Given the description of an element on the screen output the (x, y) to click on. 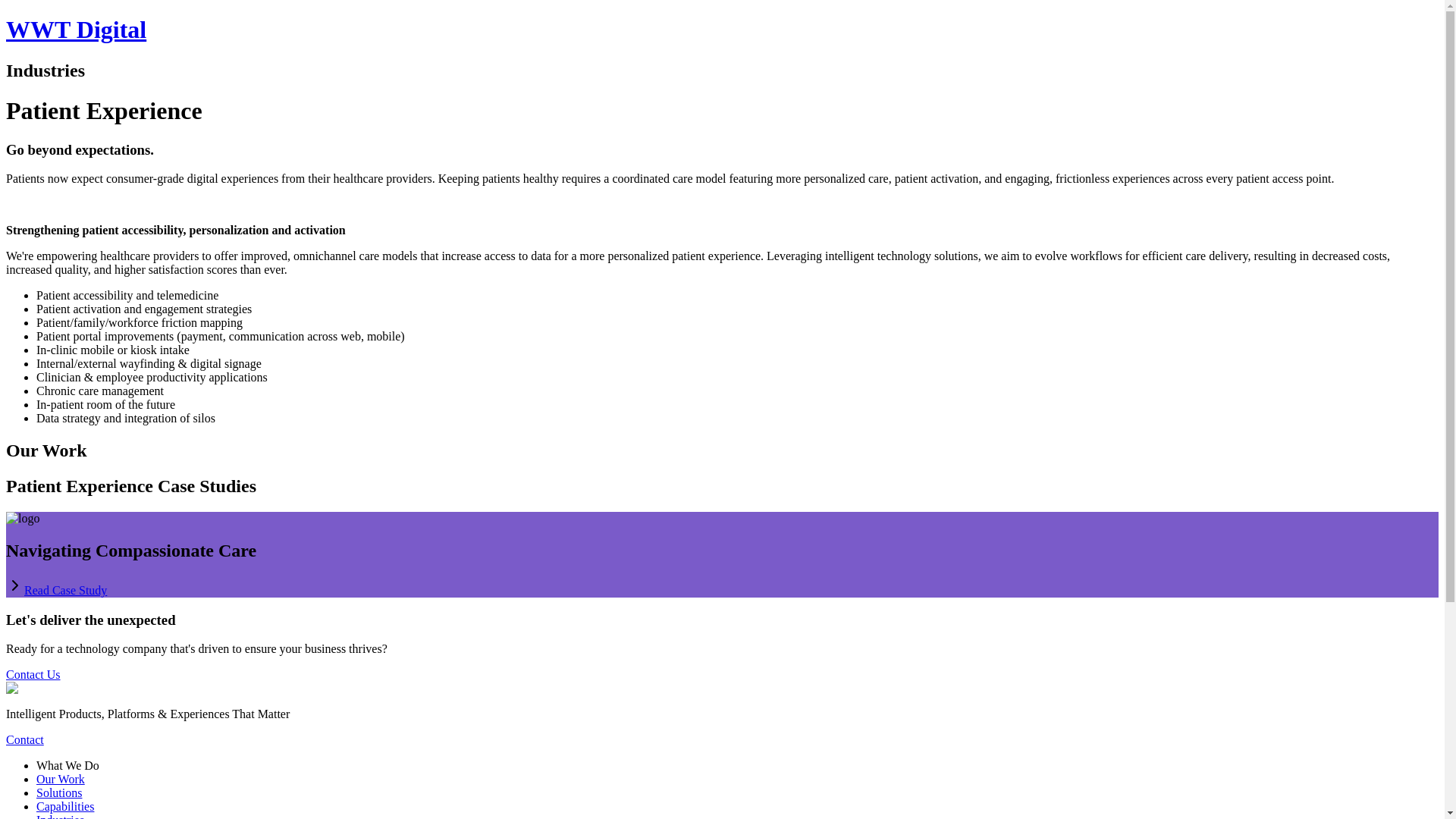
Our Work (60, 779)
Industries (60, 816)
Contact Us (33, 674)
Contact (24, 739)
Capabilities (65, 806)
Solutions (58, 792)
Read Case Study (65, 590)
